Given the description of an element on the screen output the (x, y) to click on. 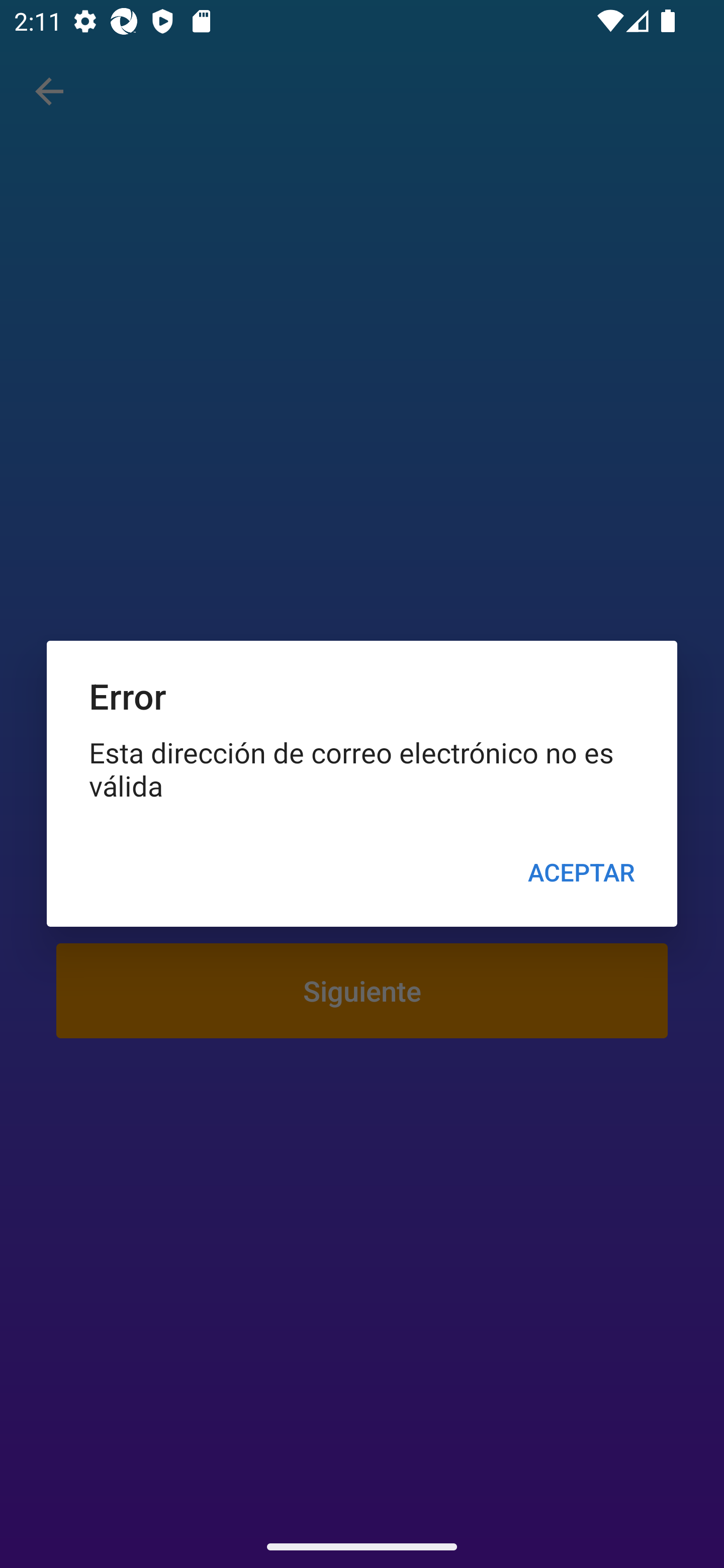
ACEPTAR (580, 872)
